Given the description of an element on the screen output the (x, y) to click on. 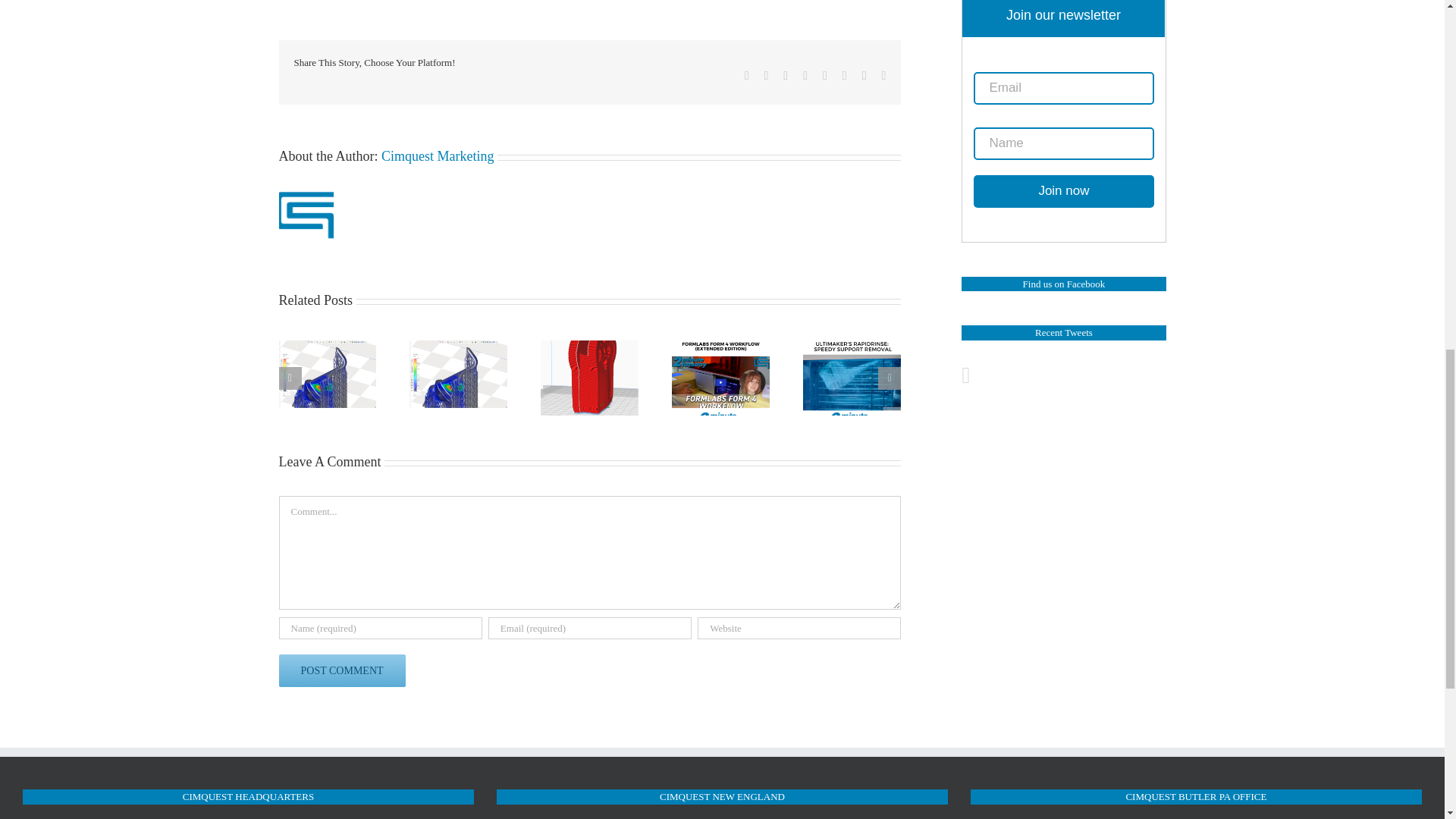
Join now (1063, 191)
Post Comment (342, 670)
Posts by Cimquest Marketing (437, 155)
